Given the description of an element on the screen output the (x, y) to click on. 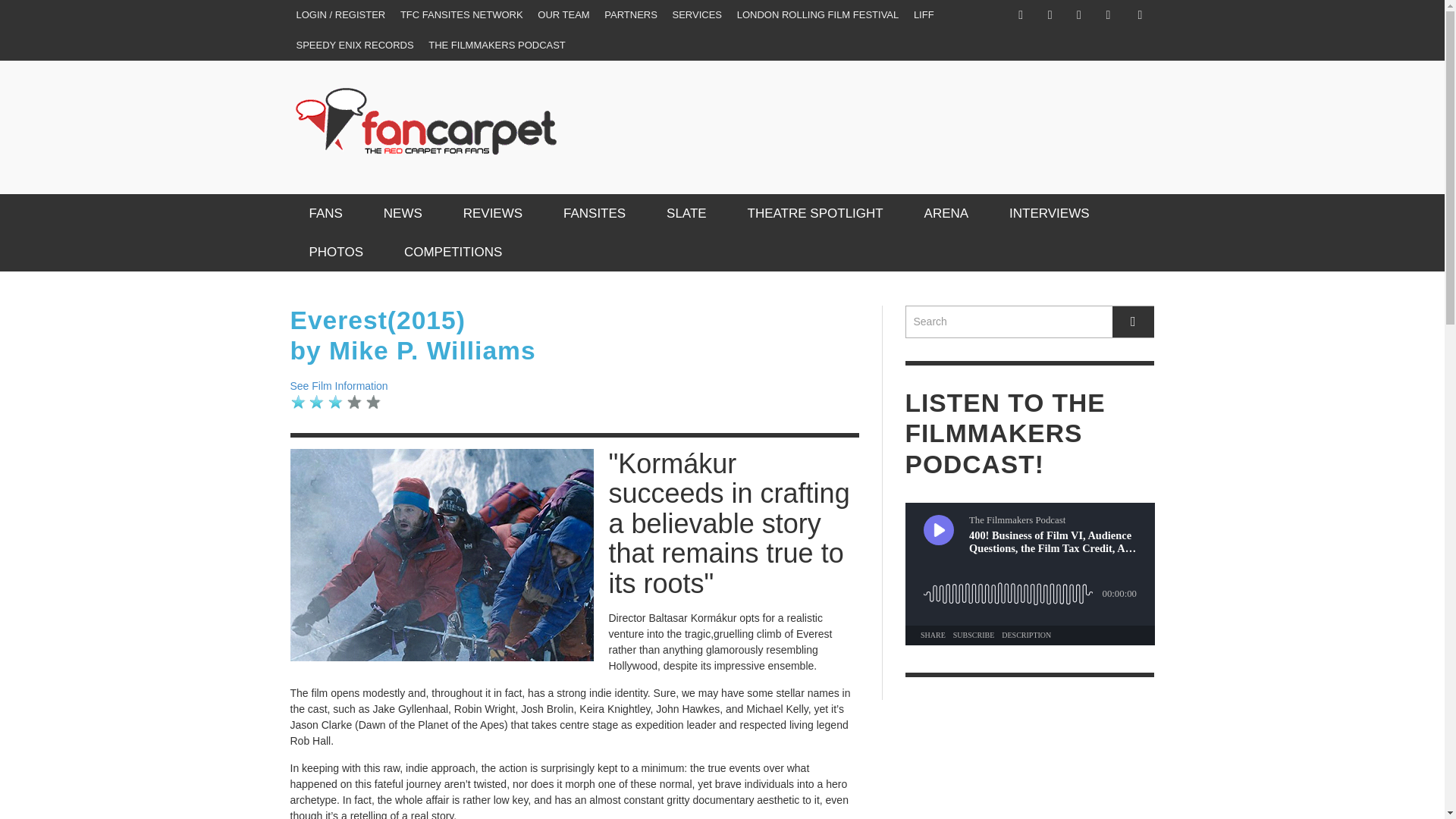
Search (1029, 321)
SERVICES (697, 15)
LIFF (923, 15)
Twitter (1078, 15)
LONDON ROLLING FILM FESTIVAL (817, 15)
THE FILMMAKERS PODCAST (497, 45)
OUR TEAM (563, 15)
Instagram (1049, 15)
TFC FANSITES NETWORK (461, 15)
SPEEDY ENIX RECORDS (354, 45)
